Given the description of an element on the screen output the (x, y) to click on. 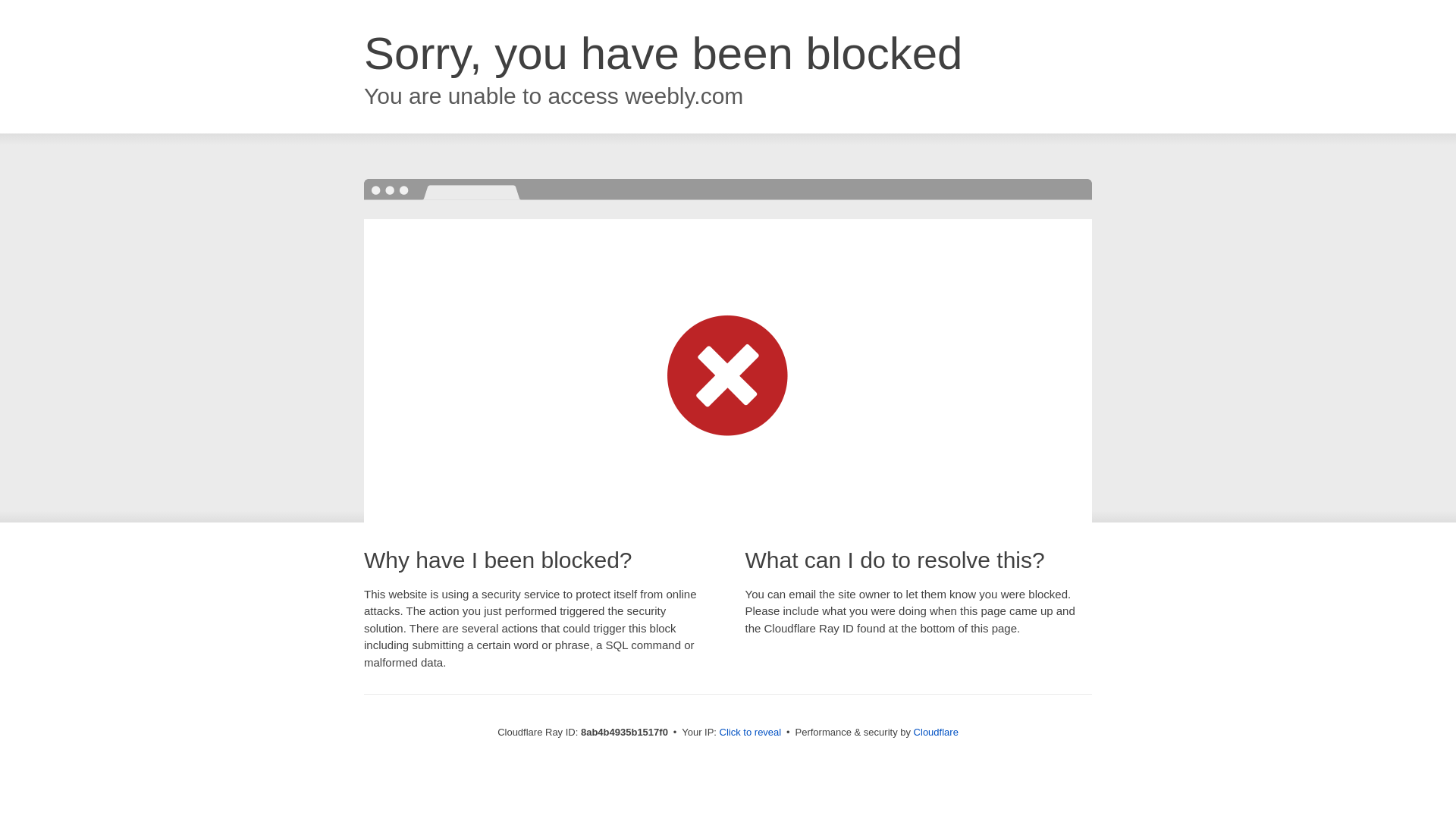
Click to reveal (750, 732)
Cloudflare (936, 731)
